Given the description of an element on the screen output the (x, y) to click on. 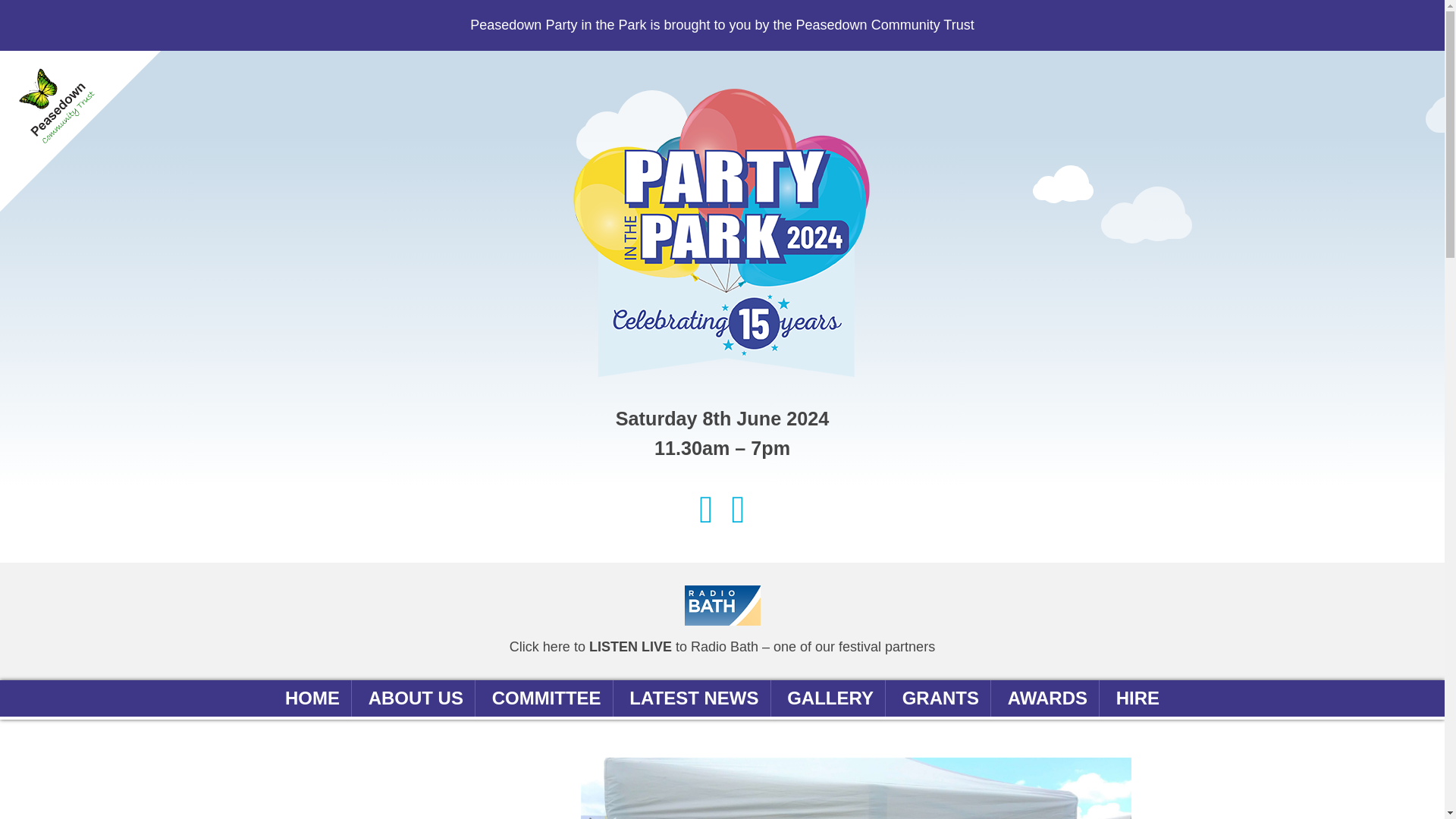
GALLERY (830, 697)
LATEST NEWS (693, 697)
AWARDS (1047, 697)
COMMITTEE (546, 697)
HIRE (1137, 697)
GRANTS (940, 697)
ABOUT US (415, 697)
HOME (312, 697)
